Given the description of an element on the screen output the (x, y) to click on. 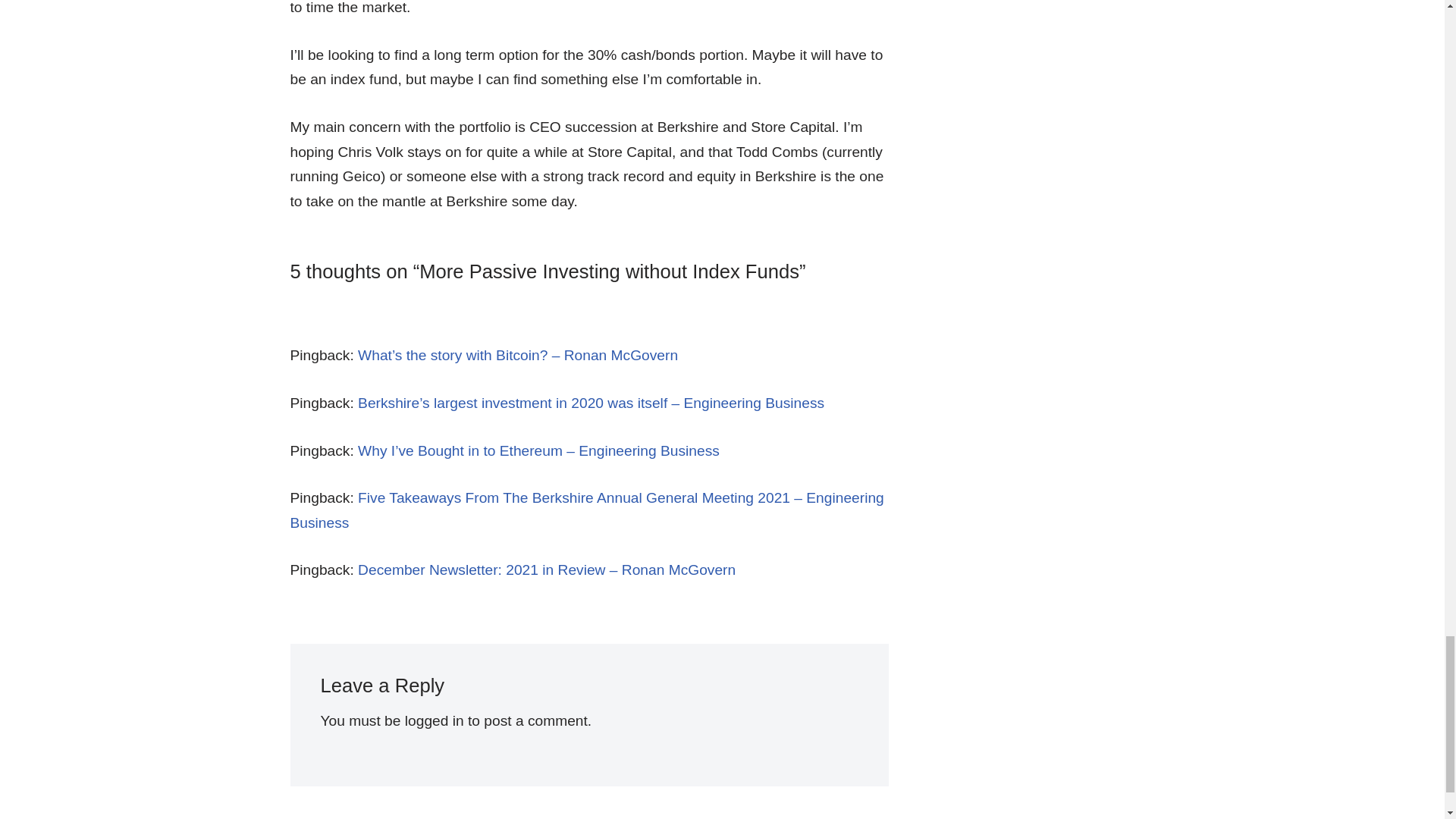
logged in (434, 720)
